Given the description of an element on the screen output the (x, y) to click on. 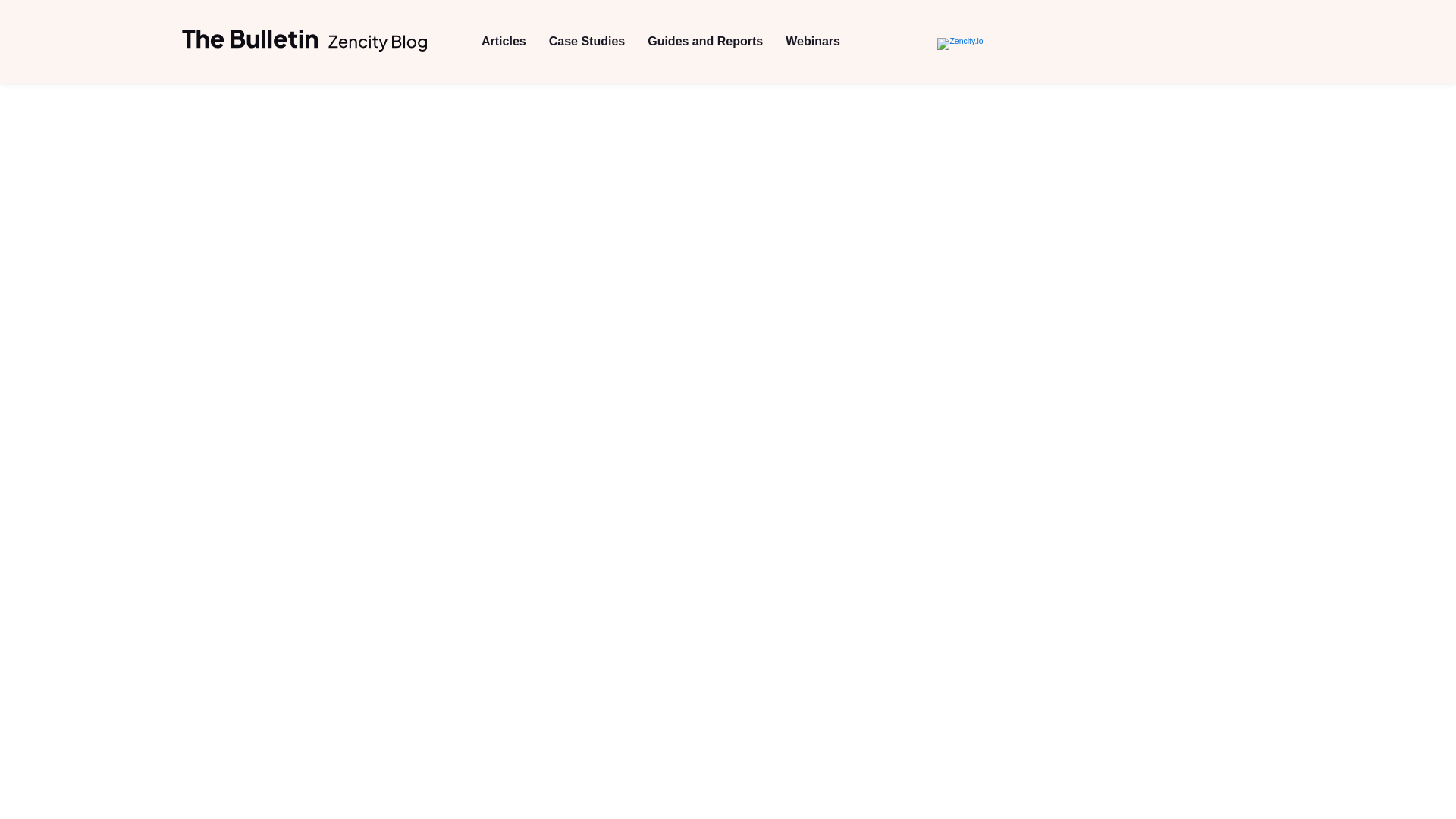
zencity-logo (305, 41)
Case Studies (586, 40)
Guides and Reports (704, 40)
Articles (503, 40)
Webinars (813, 40)
